Given the description of an element on the screen output the (x, y) to click on. 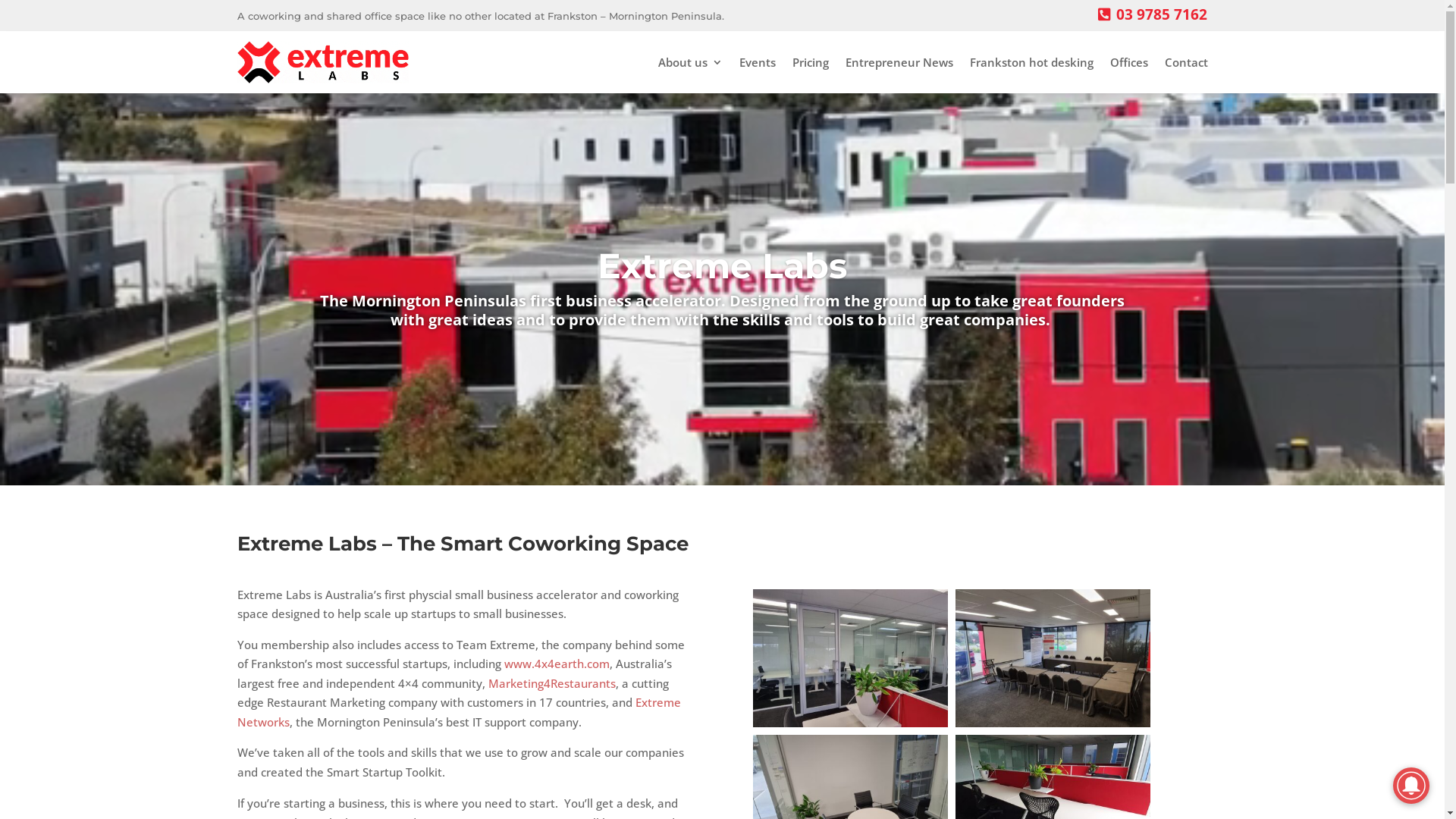
Contact Element type: text (1186, 62)
Marketing4Restaurants Element type: text (551, 682)
Events Element type: text (756, 62)
03 9785 7162 Element type: text (1161, 14)
www.4x4earth.com Element type: text (555, 663)
About us Element type: text (690, 62)
Extreme Networks Element type: text (458, 711)
Frankston hot desking Element type: text (1030, 62)
Pricing Element type: text (809, 62)
Offices Element type: text (1129, 62)
Frankston Conference Room for Hire Element type: hover (1052, 722)
Entrepreneur News Element type: text (898, 62)
extreme labs Element type: hover (850, 722)
